Given the description of an element on the screen output the (x, y) to click on. 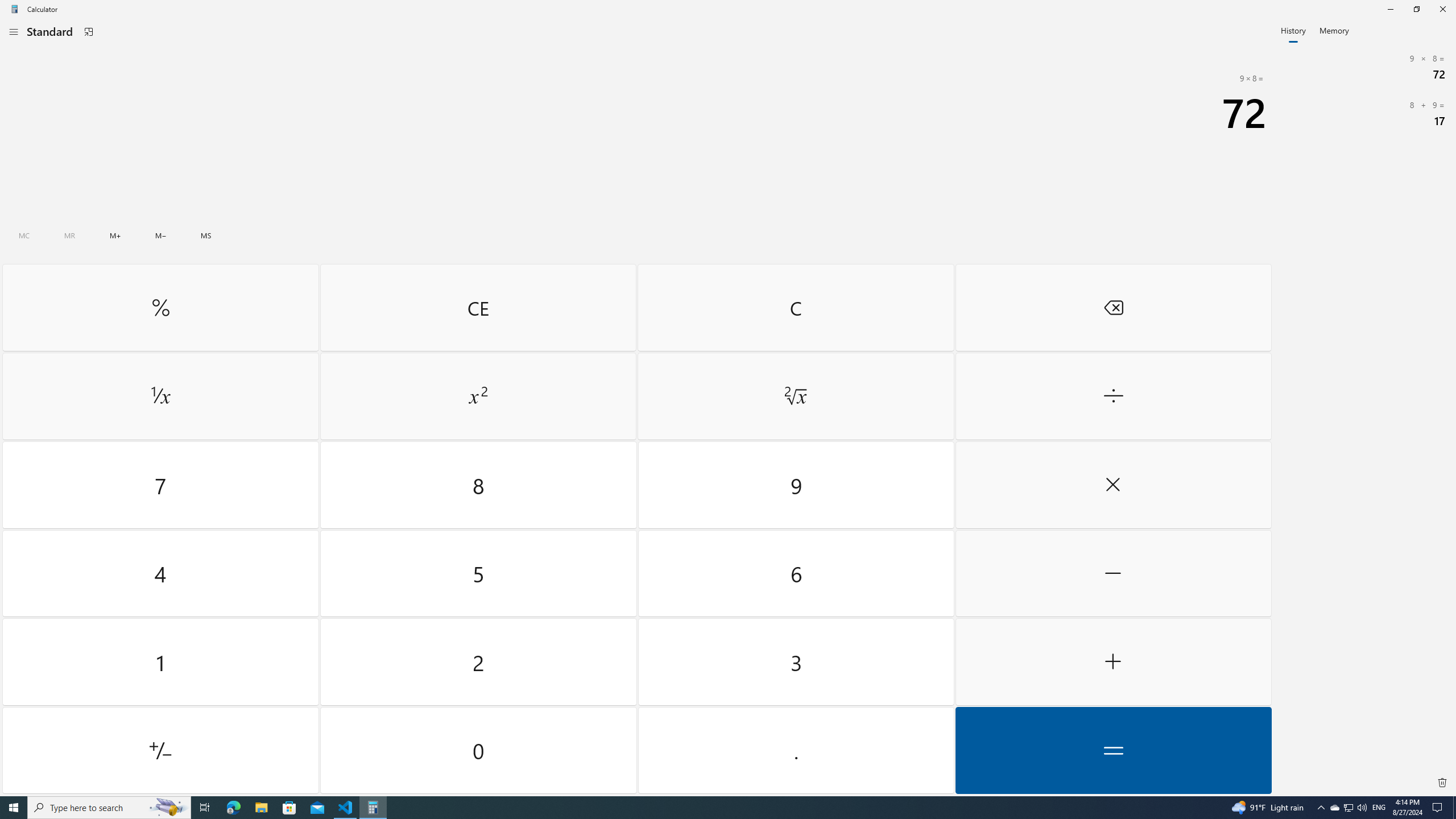
Q2790: 100% (1361, 807)
Percent (160, 307)
Three (795, 661)
Plus (1113, 661)
One (160, 661)
Five (478, 572)
Four (160, 572)
Square (478, 396)
History (1293, 29)
User Promoted Notification Area (1347, 807)
Microsoft Edge (233, 807)
Start (13, 807)
Memory add (115, 235)
Decimal separator (795, 749)
Two (478, 661)
